Given the description of an element on the screen output the (x, y) to click on. 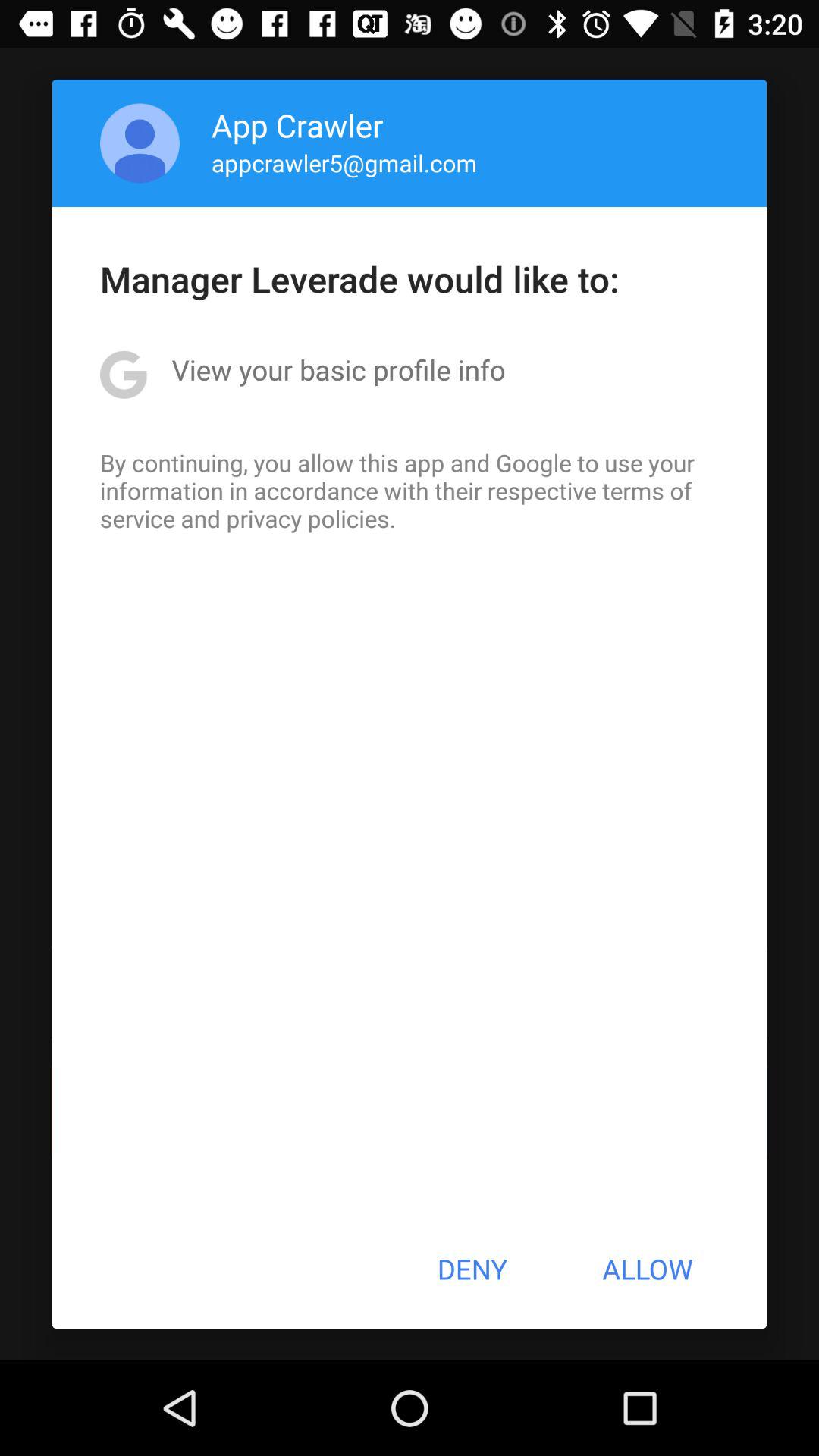
press item below app crawler (344, 162)
